Given the description of an element on the screen output the (x, y) to click on. 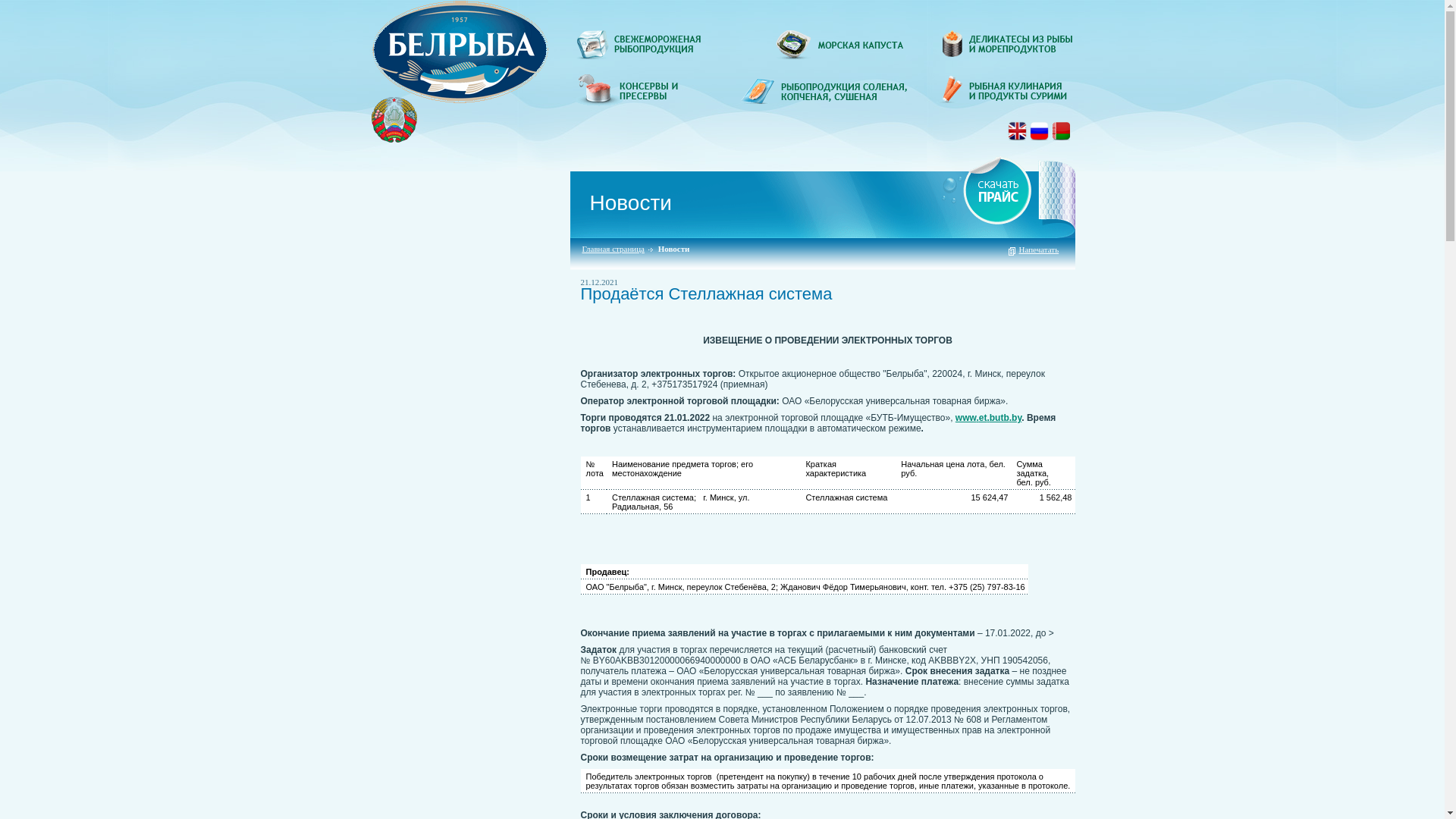
EN Element type: hover (1016, 130)
ru Element type: hover (1060, 136)
www.et.butb.by Element type: text (988, 417)
ru Element type: hover (1038, 136)
RU Element type: hover (1038, 130)
gerb Element type: hover (394, 119)
en Element type: hover (1016, 136)
BY Element type: hover (1060, 130)
